Given the description of an element on the screen output the (x, y) to click on. 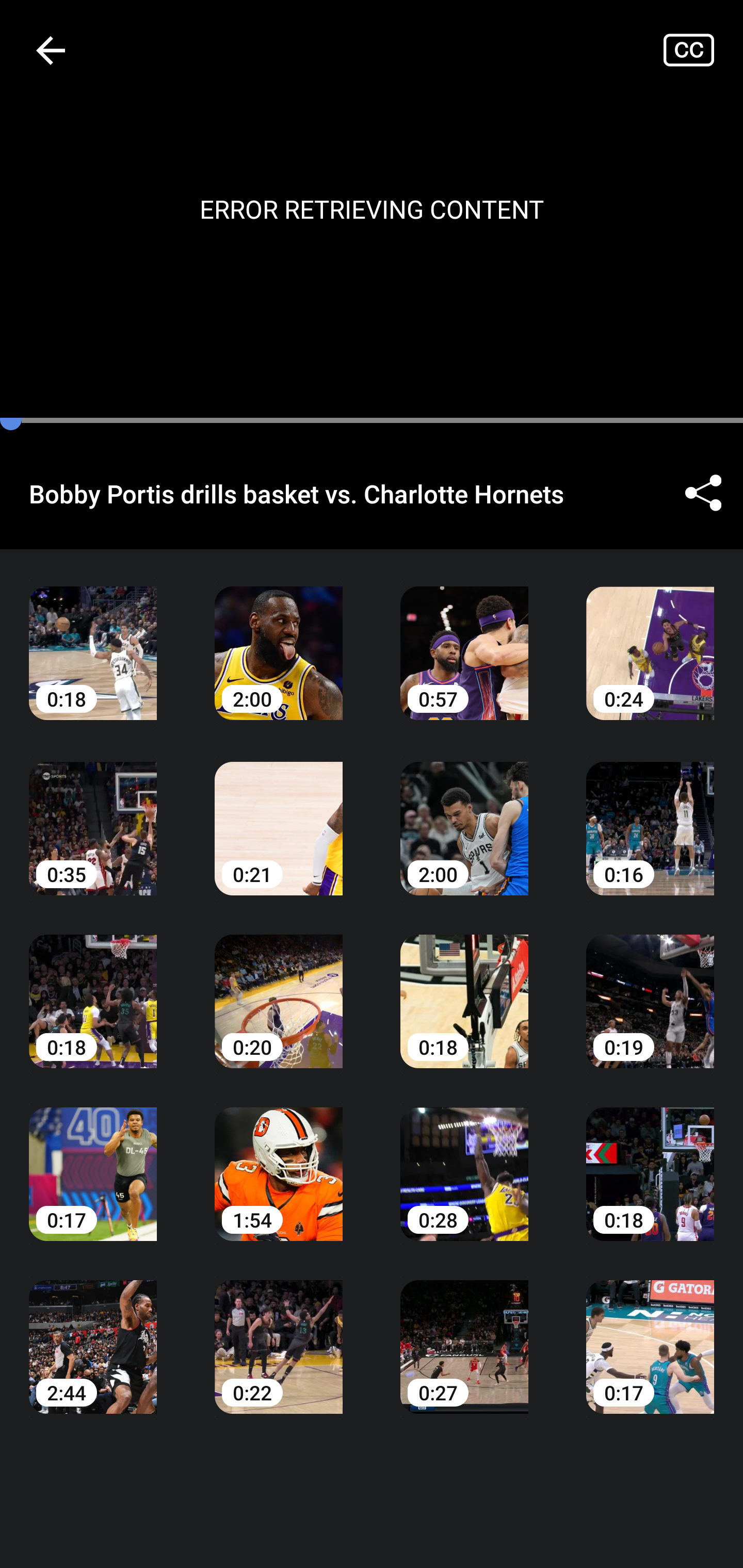
Navigate up (50, 50)
Closed captions  (703, 49)
Share © (703, 493)
0:18 (92, 637)
2:00 (278, 637)
0:57 (464, 637)
0:24 (650, 637)
0:35 (92, 813)
0:21 (278, 813)
2:00 (464, 813)
0:16 (650, 813)
0:18 (92, 987)
0:20 (278, 987)
0:18 (464, 987)
0:19 (650, 987)
0:17 (92, 1160)
1:54 (278, 1160)
0:28 (464, 1160)
0:18 (650, 1160)
2:44 (92, 1332)
0:22 (278, 1332)
0:27 (464, 1332)
0:17 (650, 1332)
